Given the description of an element on the screen output the (x, y) to click on. 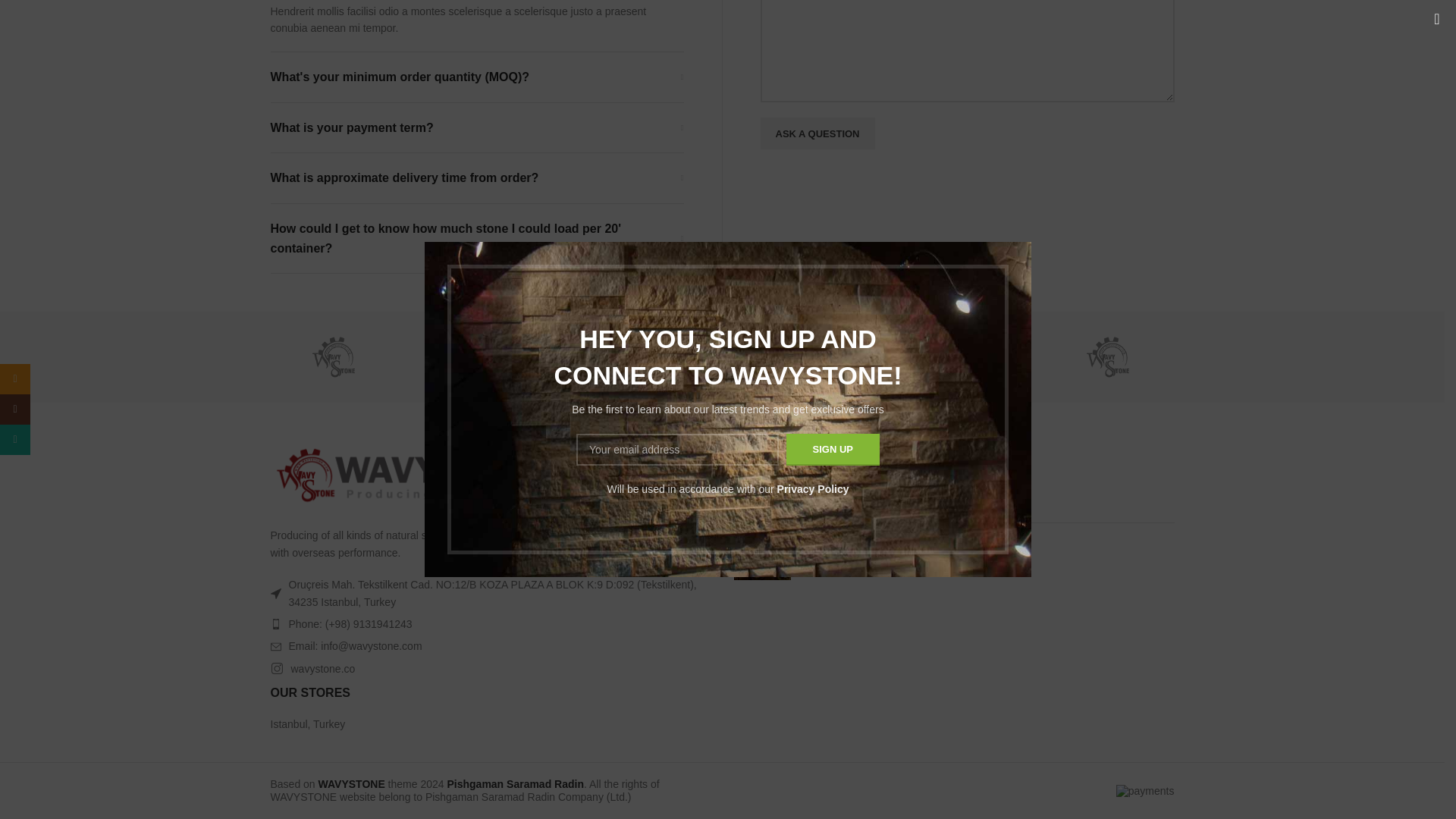
Privacy Policy (812, 22)
ASK A QUESTION (817, 133)
